Given the description of an element on the screen output the (x, y) to click on. 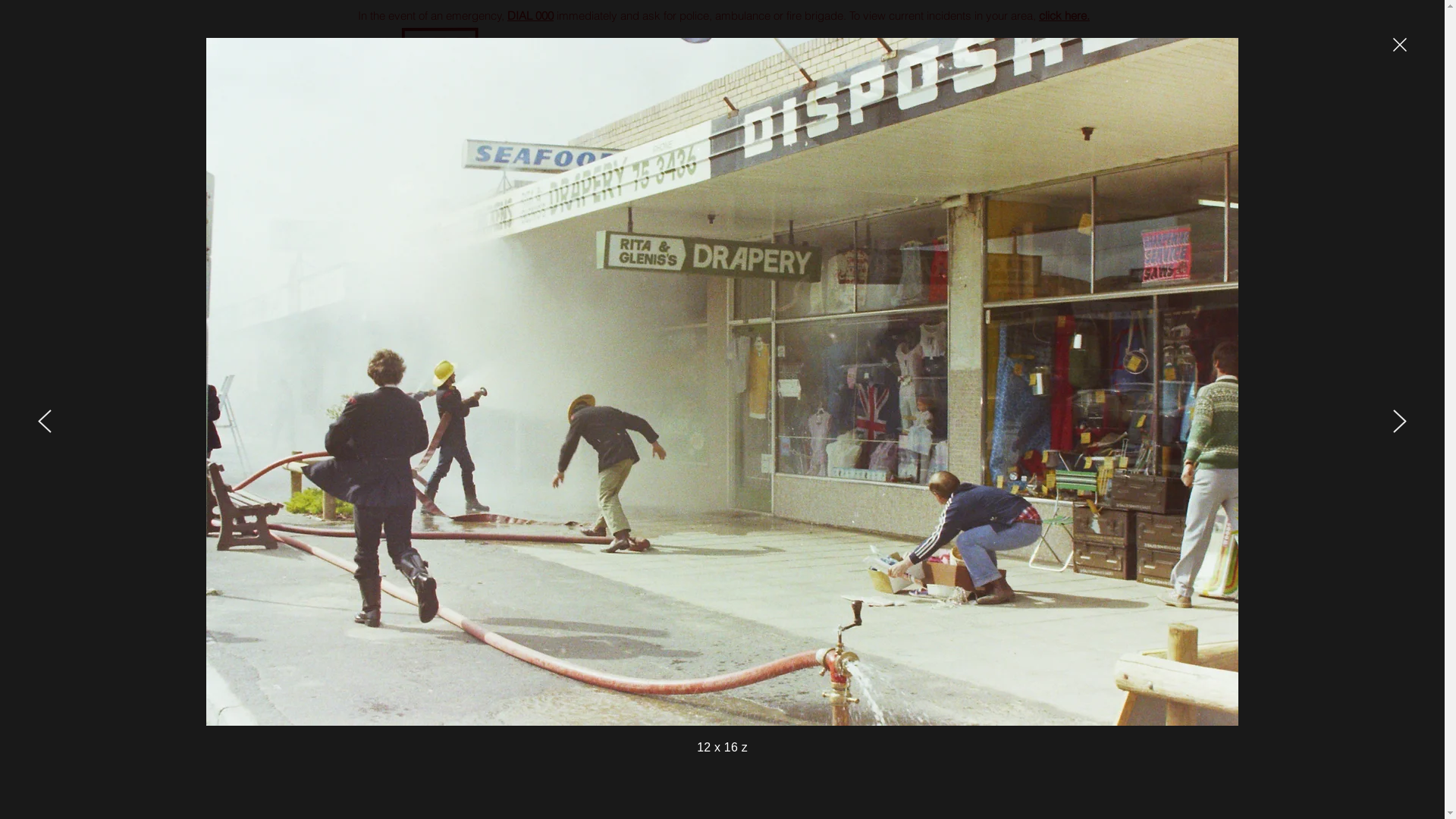
mornington fire brigade 100 year logo.jpg Element type: hover (1006, 65)
Log In Element type: text (1078, 135)
since  Element type: text (654, 95)
Home Element type: text (398, 131)
   "Proudly serving the community Element type: text (719, 79)
                                    Element type: text (456, 57)
Mornington Fire Brigade Element type: text (715, 55)
About our 100 year Celebrations Element type: text (681, 131)
Contact Us Element type: text (849, 131)
click here. Element type: text (1063, 14)
1st January 1917" Element type: text (741, 95)
What We Do Element type: text (509, 131)
